Given the description of an element on the screen output the (x, y) to click on. 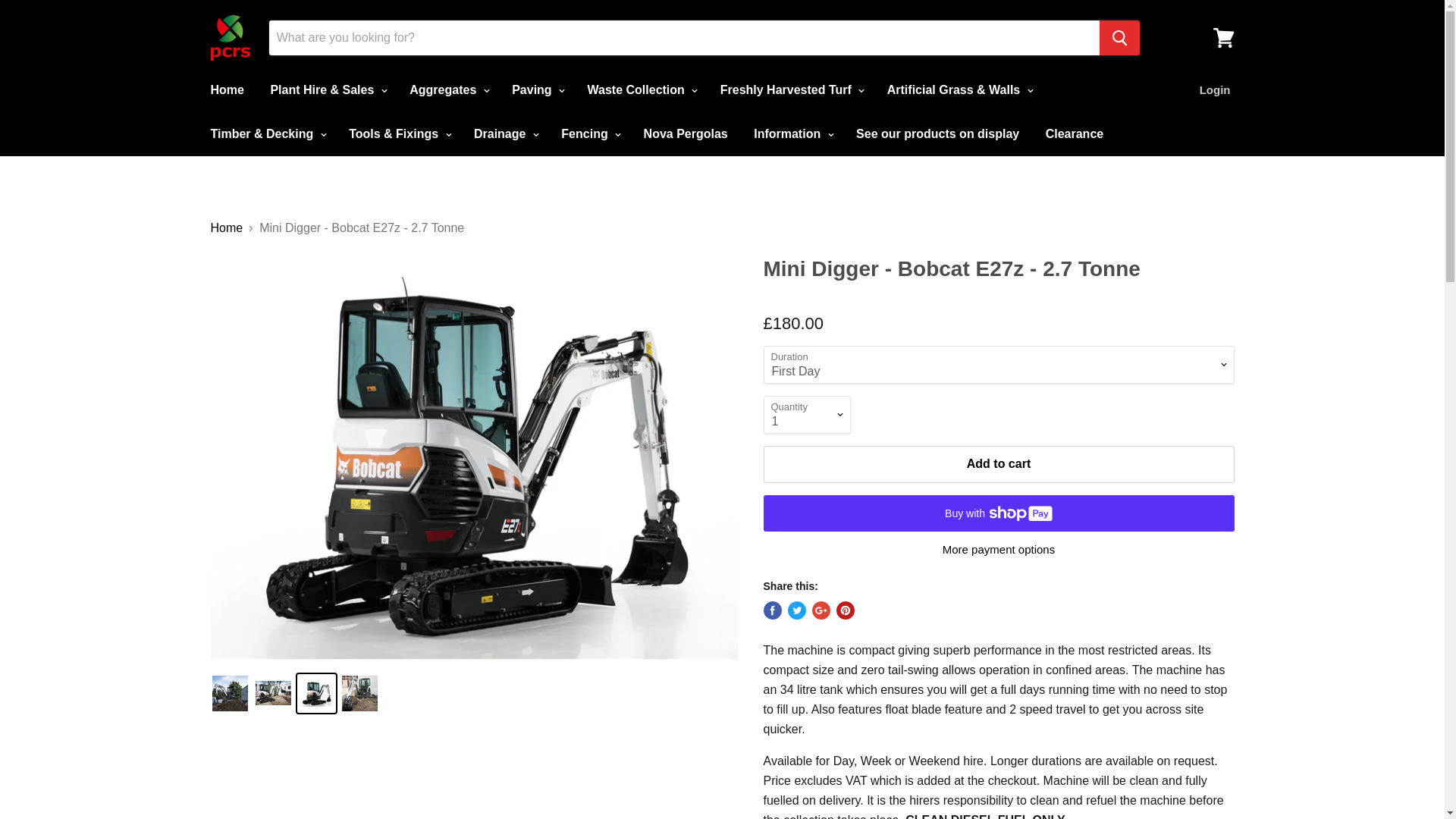
Paving (536, 90)
View cart (1223, 37)
Aggregates (446, 90)
Home (226, 90)
Freshly Harvested Turf (790, 90)
Waste Collection (641, 90)
